Given the description of an element on the screen output the (x, y) to click on. 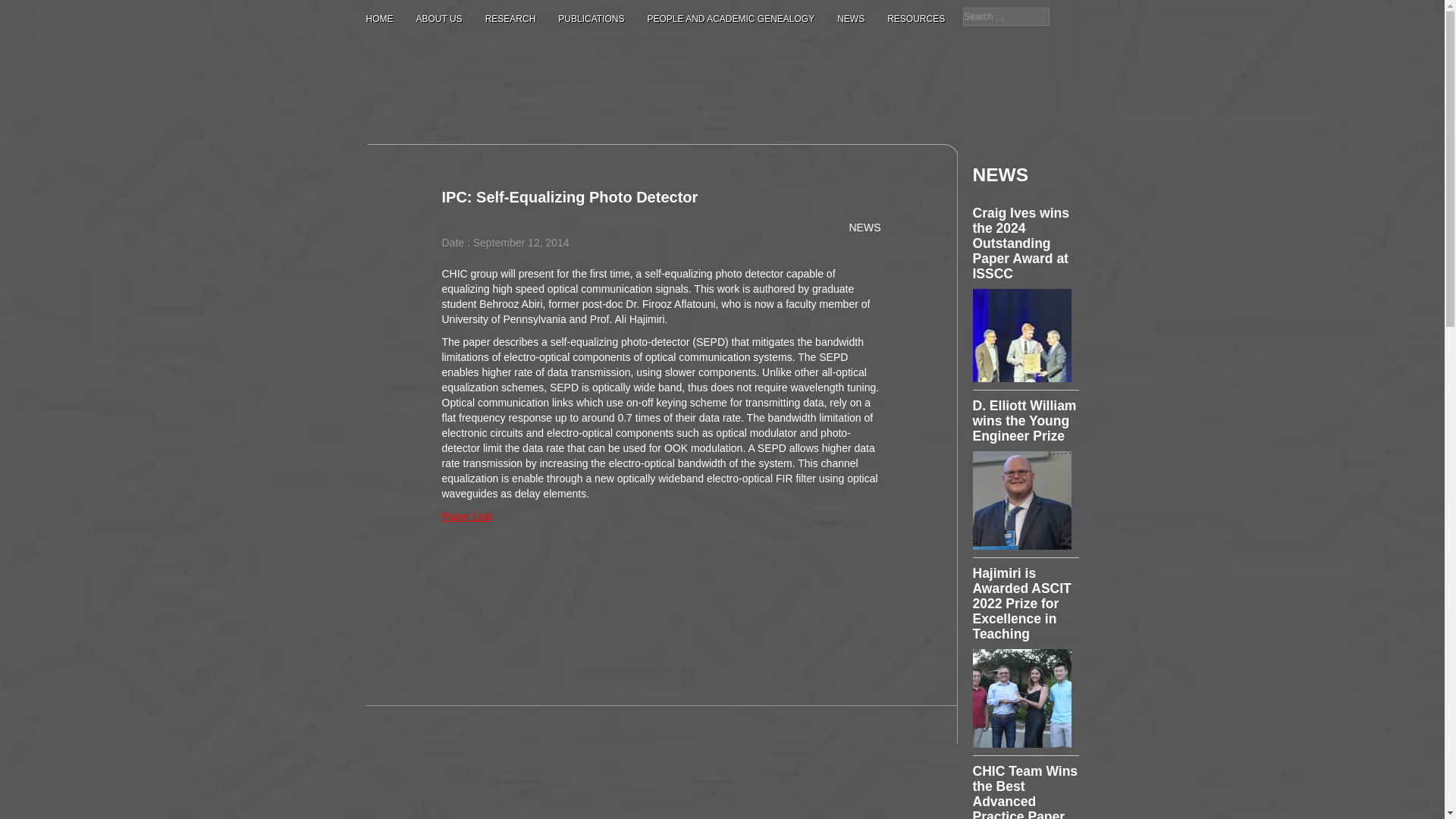
Skip to content (400, 151)
D. Elliott William wins the Young Engineer Prize (1023, 420)
HOME (379, 18)
RESEARCH (509, 18)
CHIC Team Wins the Best Advanced Practice Paper at IMS 2020 (1024, 791)
D. Elliott William wins the Young Engineer Prize (1023, 420)
PUBLICATIONS (590, 18)
CHIC Team Wins the Best Advanced Practice Paper at IMS 2020 (1024, 791)
Craig Ives wins the 2024 Outstanding Paper Award at ISSCC (1020, 243)
